Given the description of an element on the screen output the (x, y) to click on. 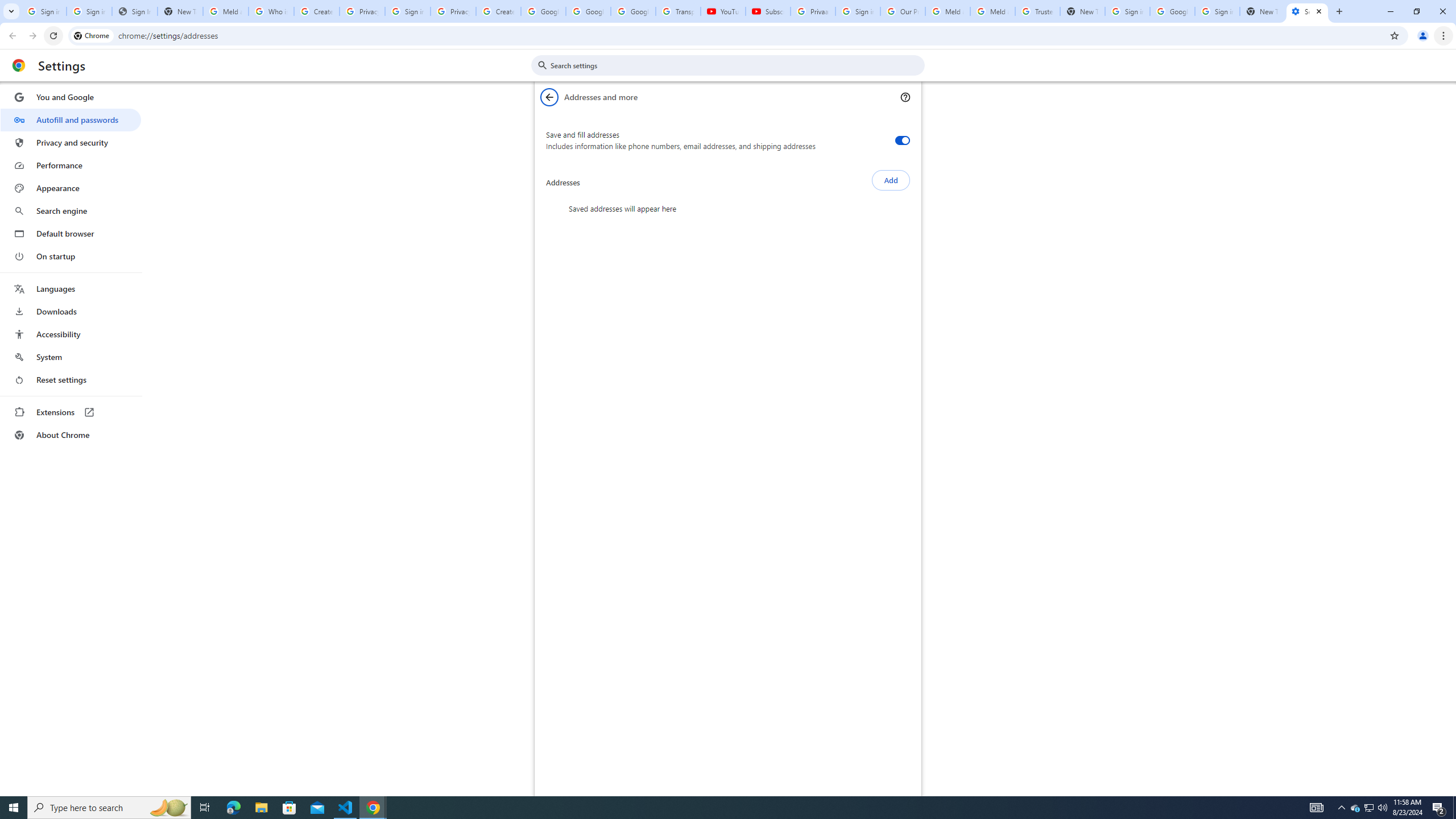
Sign in - Google Accounts (88, 11)
Create your Google Account (316, 11)
Accessibility (70, 333)
Performance (70, 164)
Downloads (70, 311)
New Tab (1262, 11)
Sign in - Google Accounts (407, 11)
Who is my administrator? - Google Account Help (270, 11)
Autofill and passwords (70, 119)
